Given the description of an element on the screen output the (x, y) to click on. 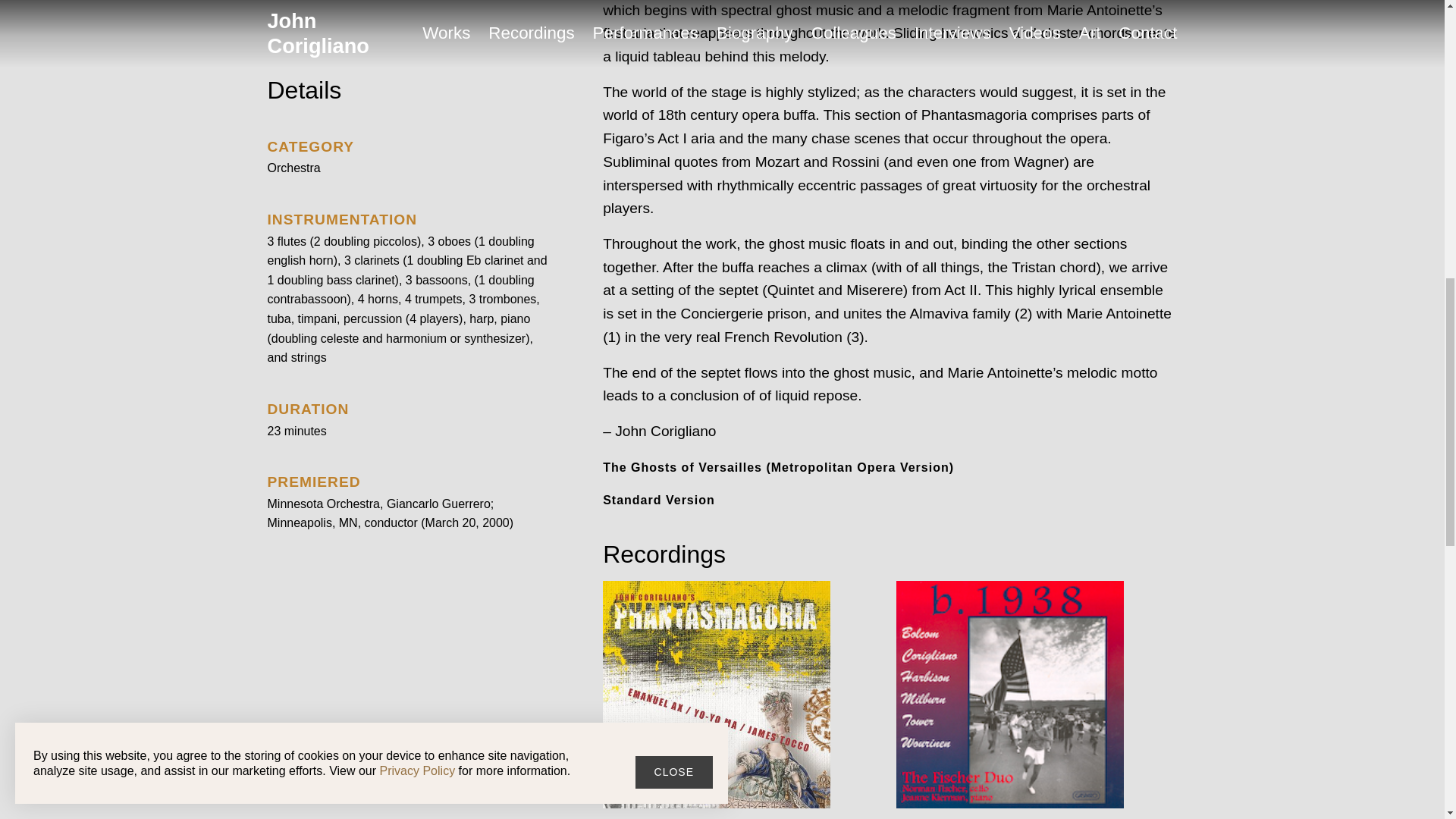
Standard Version (658, 498)
